Given the description of an element on the screen output the (x, y) to click on. 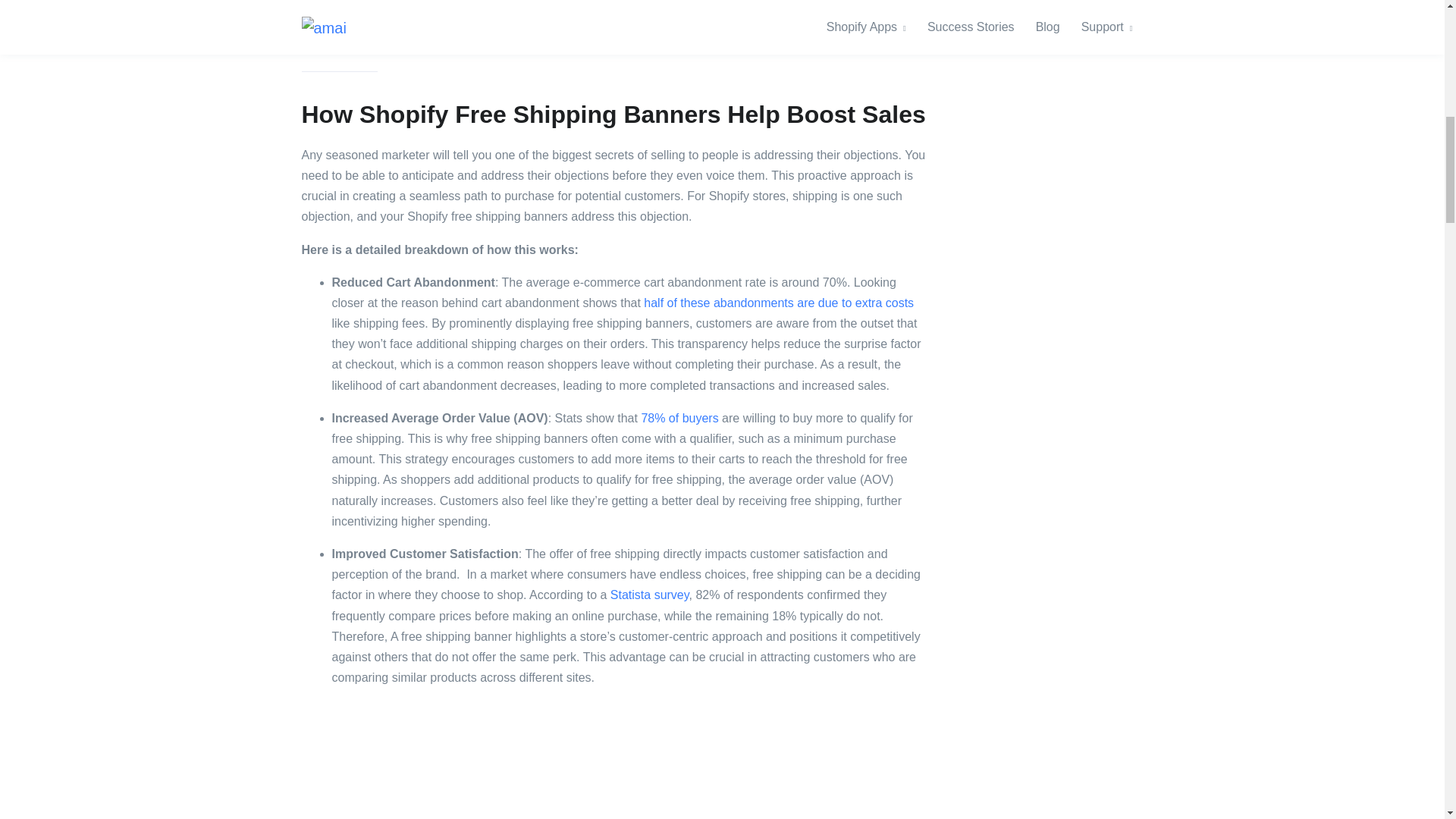
Statista survey (649, 594)
half of these abandonments are due to extra costs (778, 302)
